Given the description of an element on the screen output the (x, y) to click on. 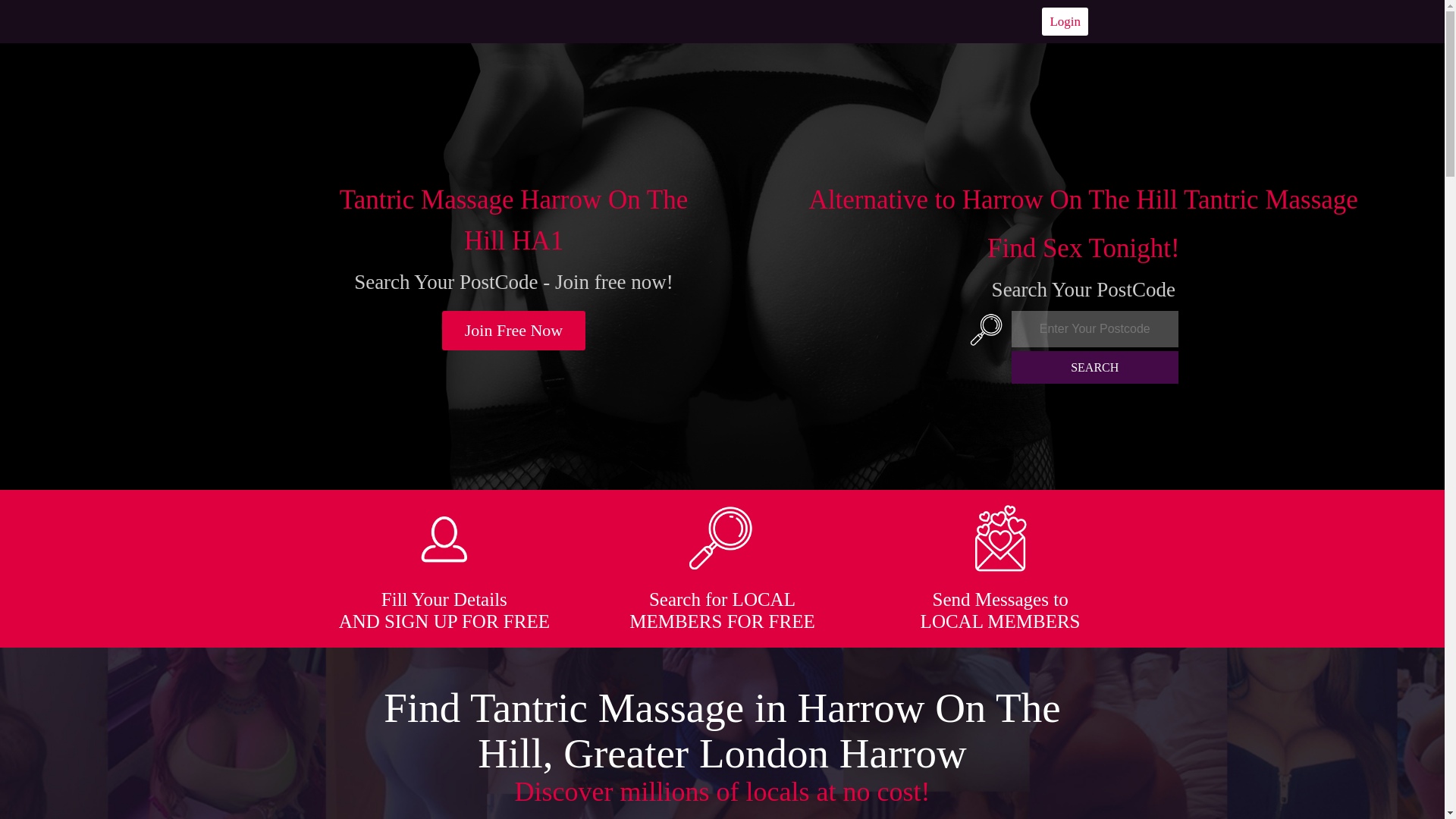
Login (1064, 21)
Join Free Now (514, 330)
SEARCH (1094, 367)
Login (1064, 21)
Join (514, 330)
